Given the description of an element on the screen output the (x, y) to click on. 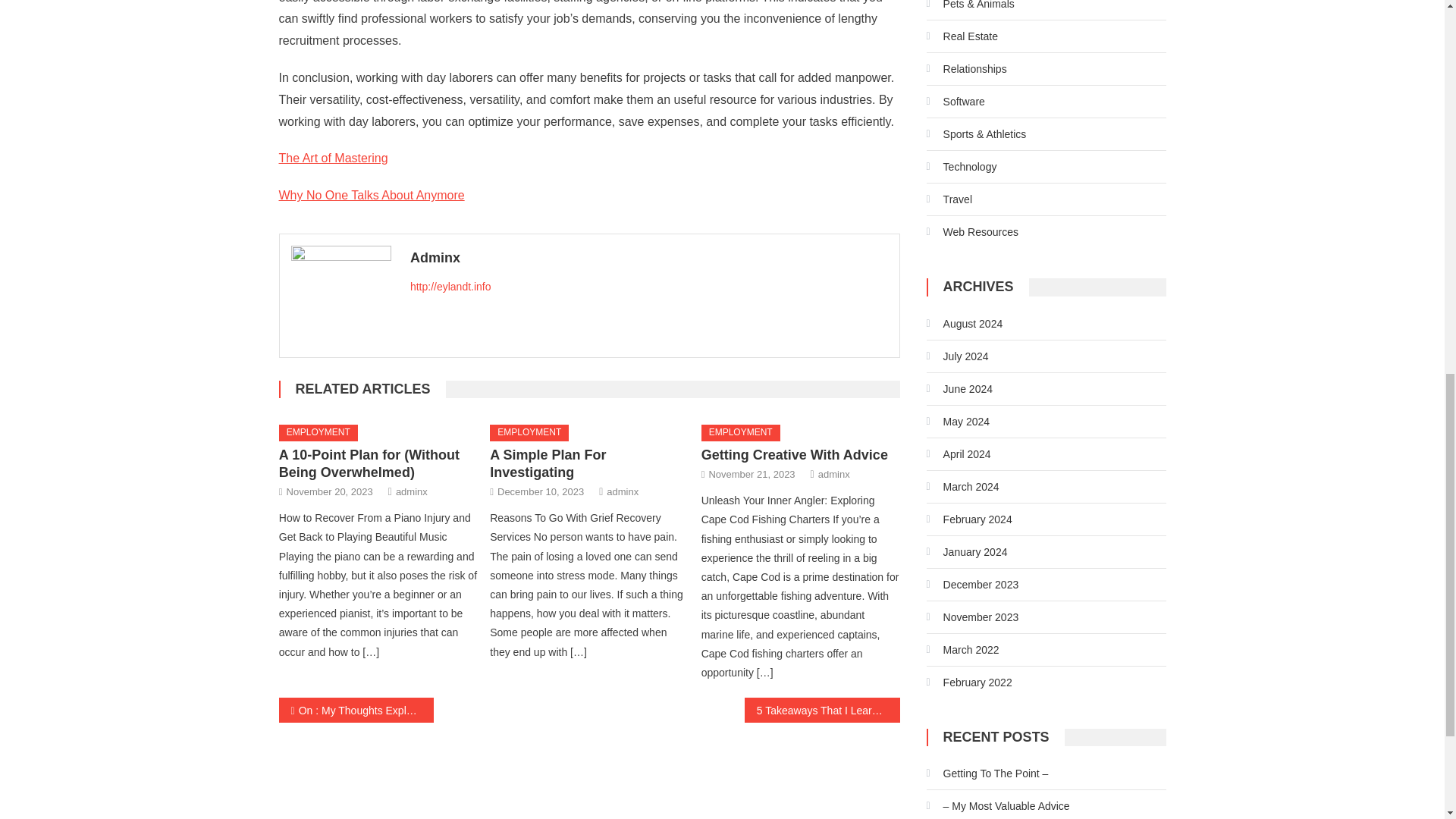
EMPLOYMENT (529, 433)
Why No One Talks About Anymore (371, 195)
The Art of Mastering (333, 157)
adminx (412, 491)
Getting Creative With Advice (794, 454)
December 10, 2023 (540, 491)
adminx (623, 491)
A Simple Plan For Investigating (547, 463)
Adminx (649, 257)
On : My Thoughts Explained (356, 709)
